Given the description of an element on the screen output the (x, y) to click on. 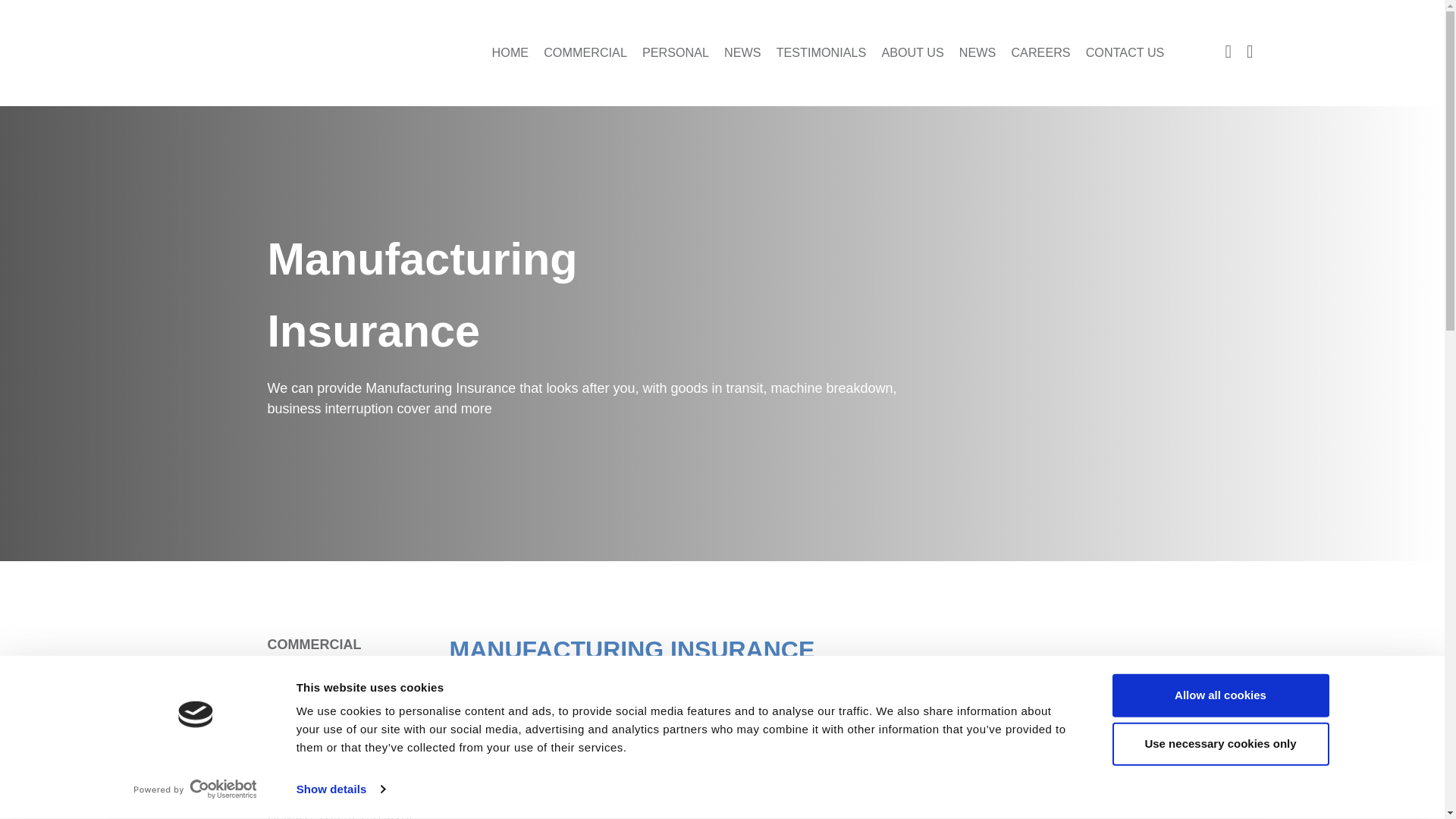
Use necessary cookies only (1219, 743)
Show details (340, 789)
Allow all cookies (1219, 695)
